Given the description of an element on the screen output the (x, y) to click on. 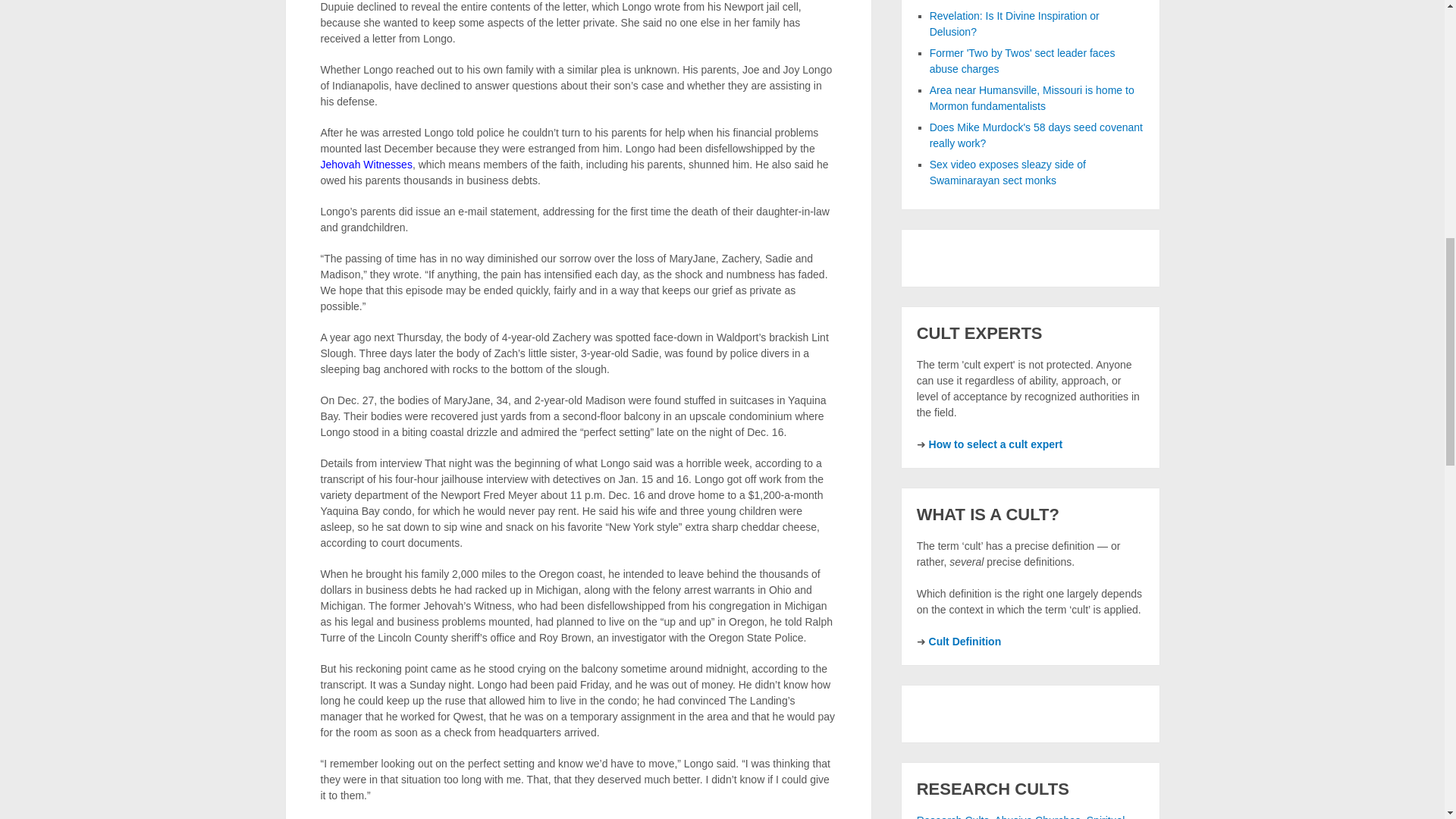
Sex video exposes sleazy side of Swaminarayan sect monks (1008, 172)
Revelation: Is It Divine Inspiration or Delusion? (1014, 23)
Former 'Two by Twos' sect leader faces abuse charges (1022, 60)
Does Mike Murdock's 58 days seed covenant really work? (1036, 135)
Jehovah Witnesses (366, 164)
How to select a cult expert (995, 444)
Cult Definition (964, 641)
